Given the description of an element on the screen output the (x, y) to click on. 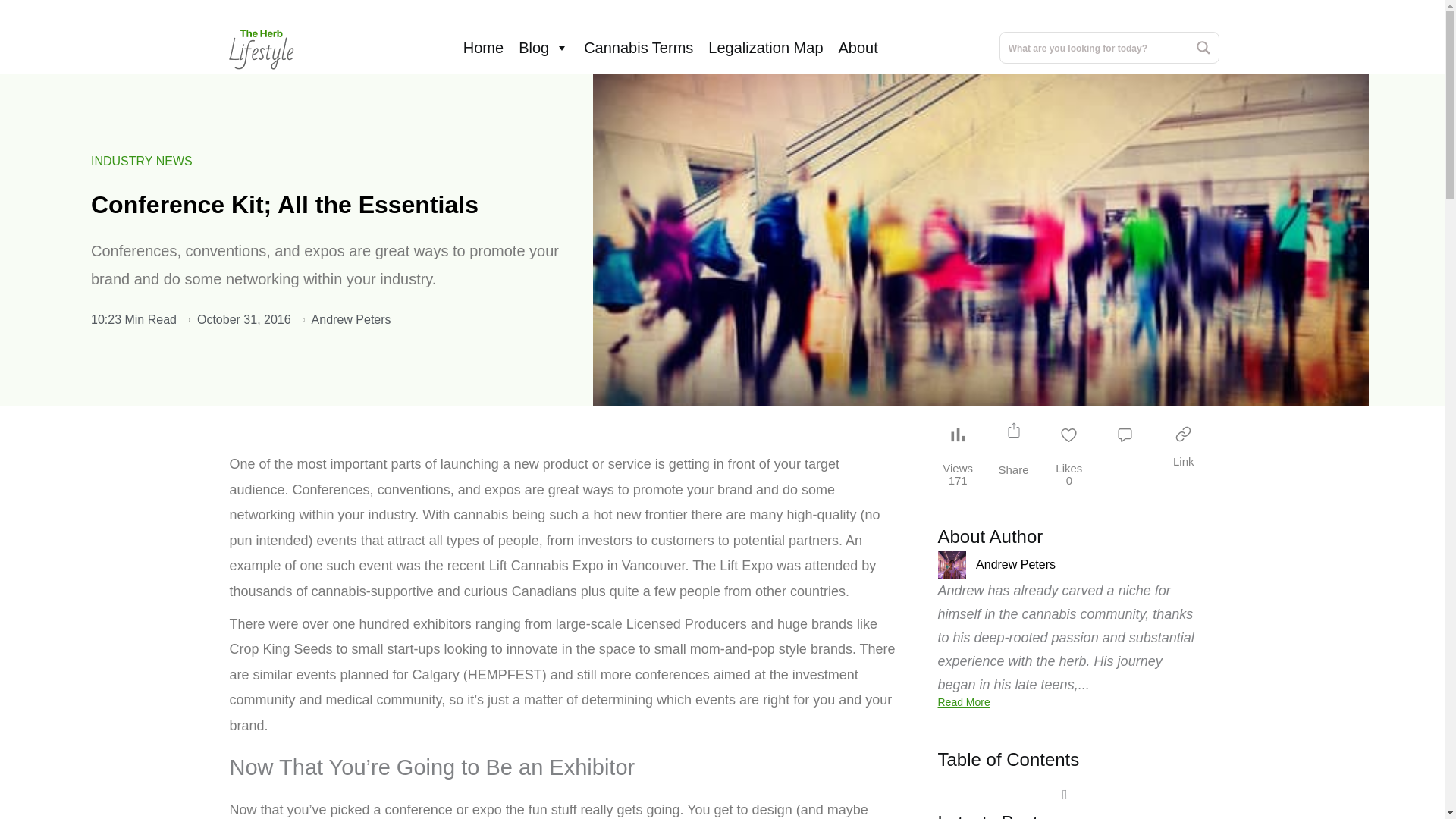
Home (483, 47)
Blog (543, 47)
